Given the description of an element on the screen output the (x, y) to click on. 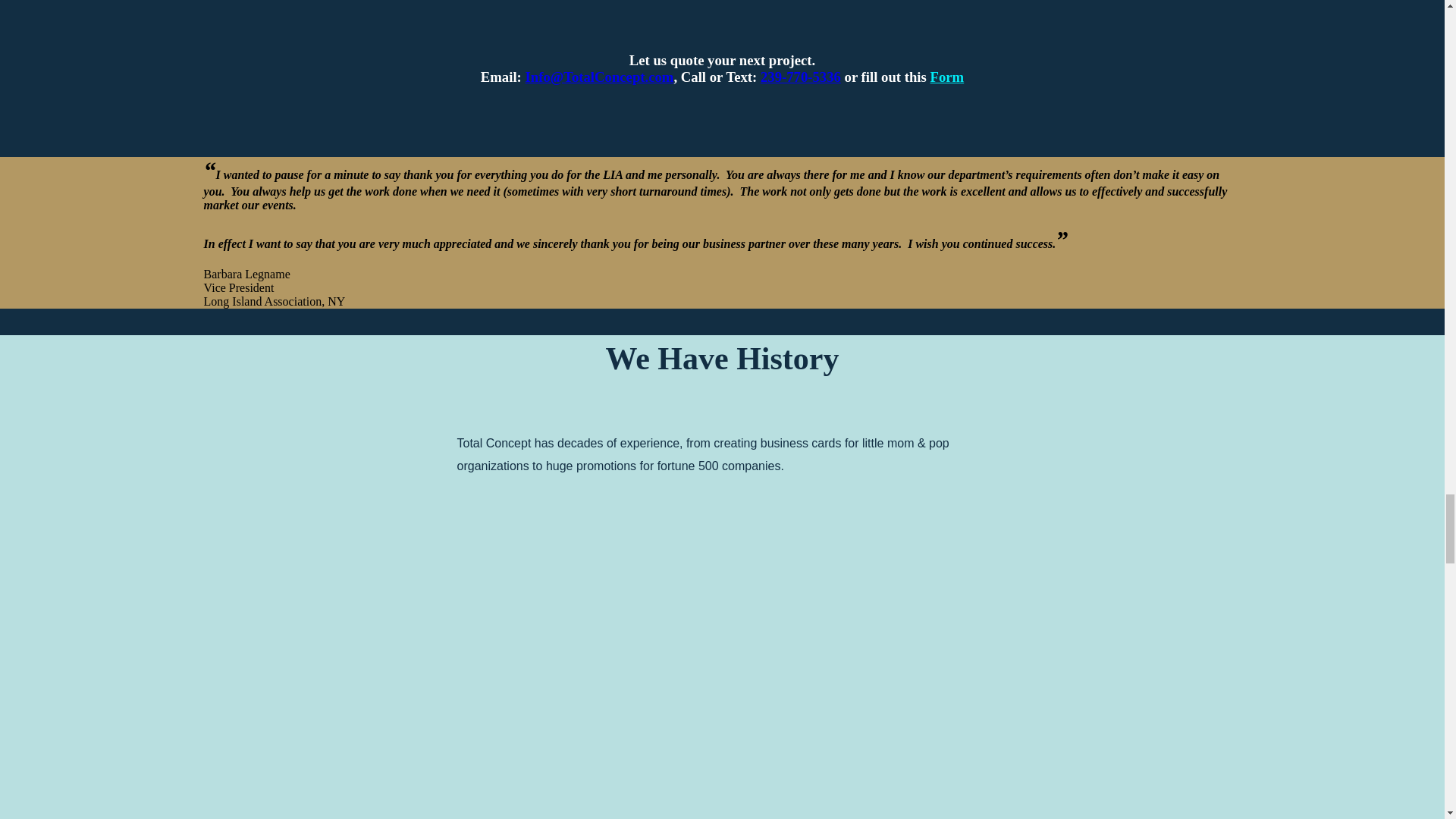
Form (946, 76)
print inquiry (598, 76)
Contact Form (946, 76)
239-770-5336 (800, 76)
